Given the description of an element on the screen output the (x, y) to click on. 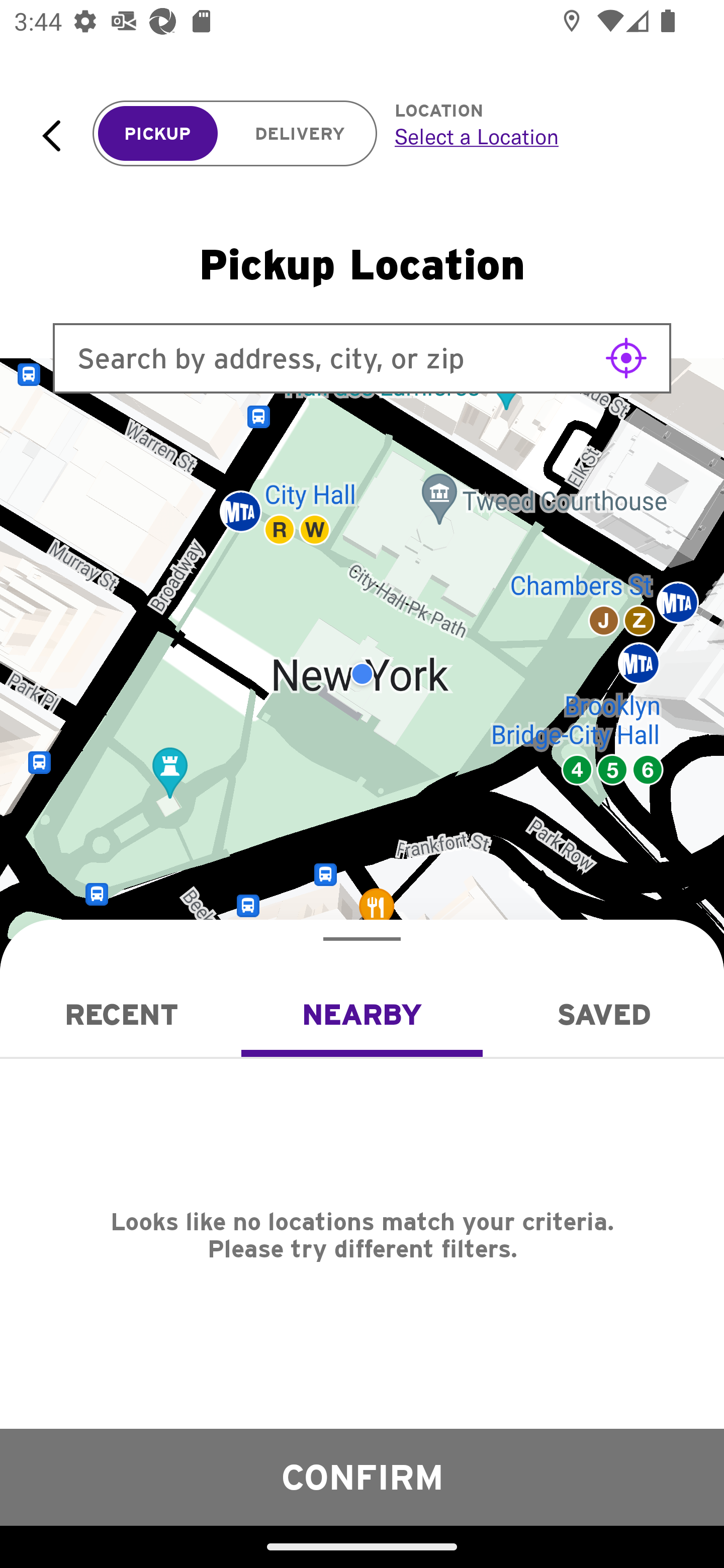
PICKUP (157, 133)
DELIVERY (299, 133)
Select a Location (536, 136)
Search by address, city, or zip (361, 358)
Google Map (362, 674)
Recent RECENT (120, 1014)
Saved SAVED (603, 1014)
CONFIRM (362, 1476)
